Given the description of an element on the screen output the (x, y) to click on. 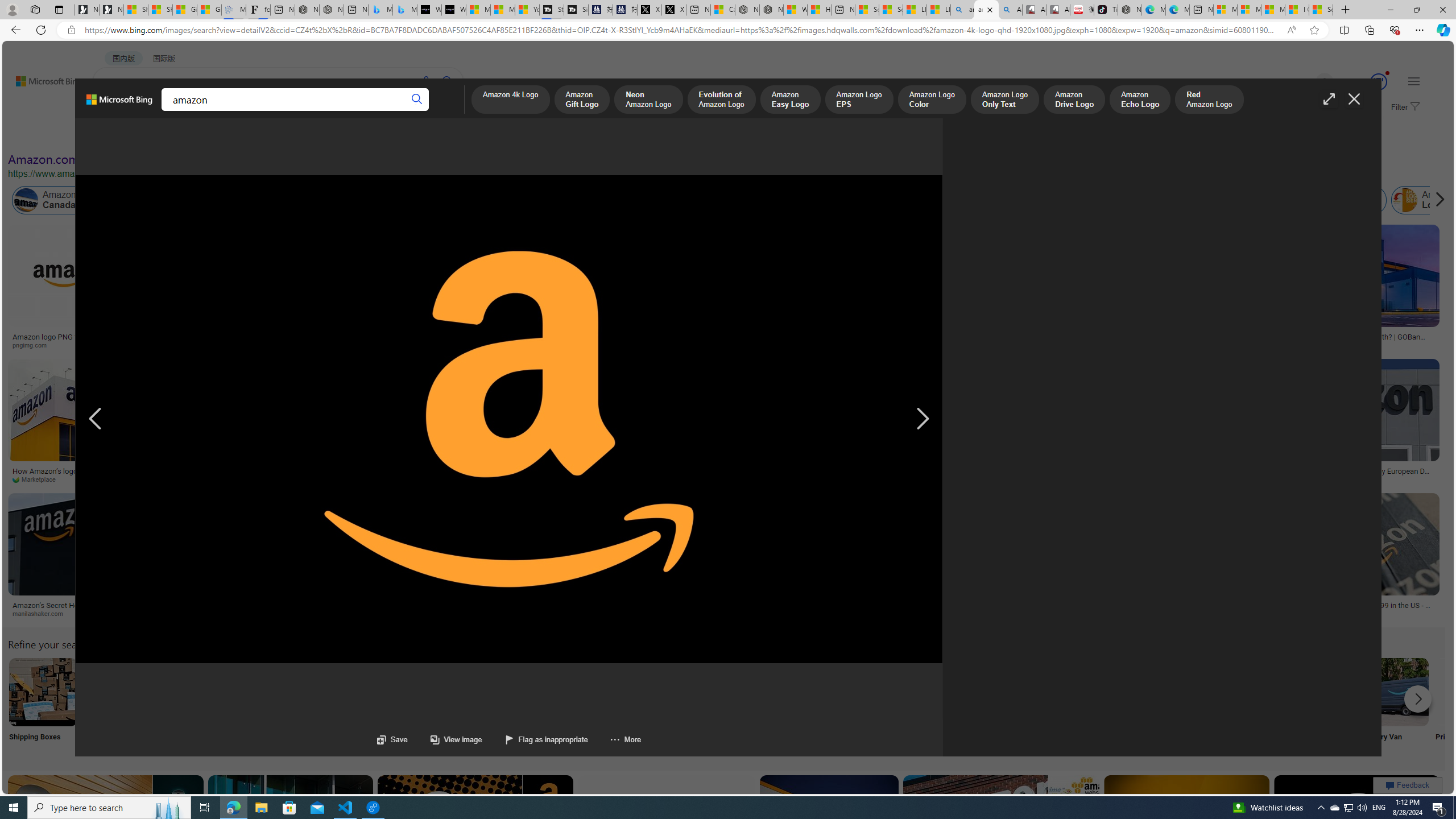
Amazon Prime Label (1018, 691)
WEB (114, 111)
Marketplace (38, 479)
mobilemarketingmagazine.com (736, 479)
Amazon Clip Art Clip Art (192, 706)
WEB (114, 111)
Kindle Paperwhite Case (617, 298)
Feedback (1407, 785)
Prime Label (1018, 706)
